Given the description of an element on the screen output the (x, y) to click on. 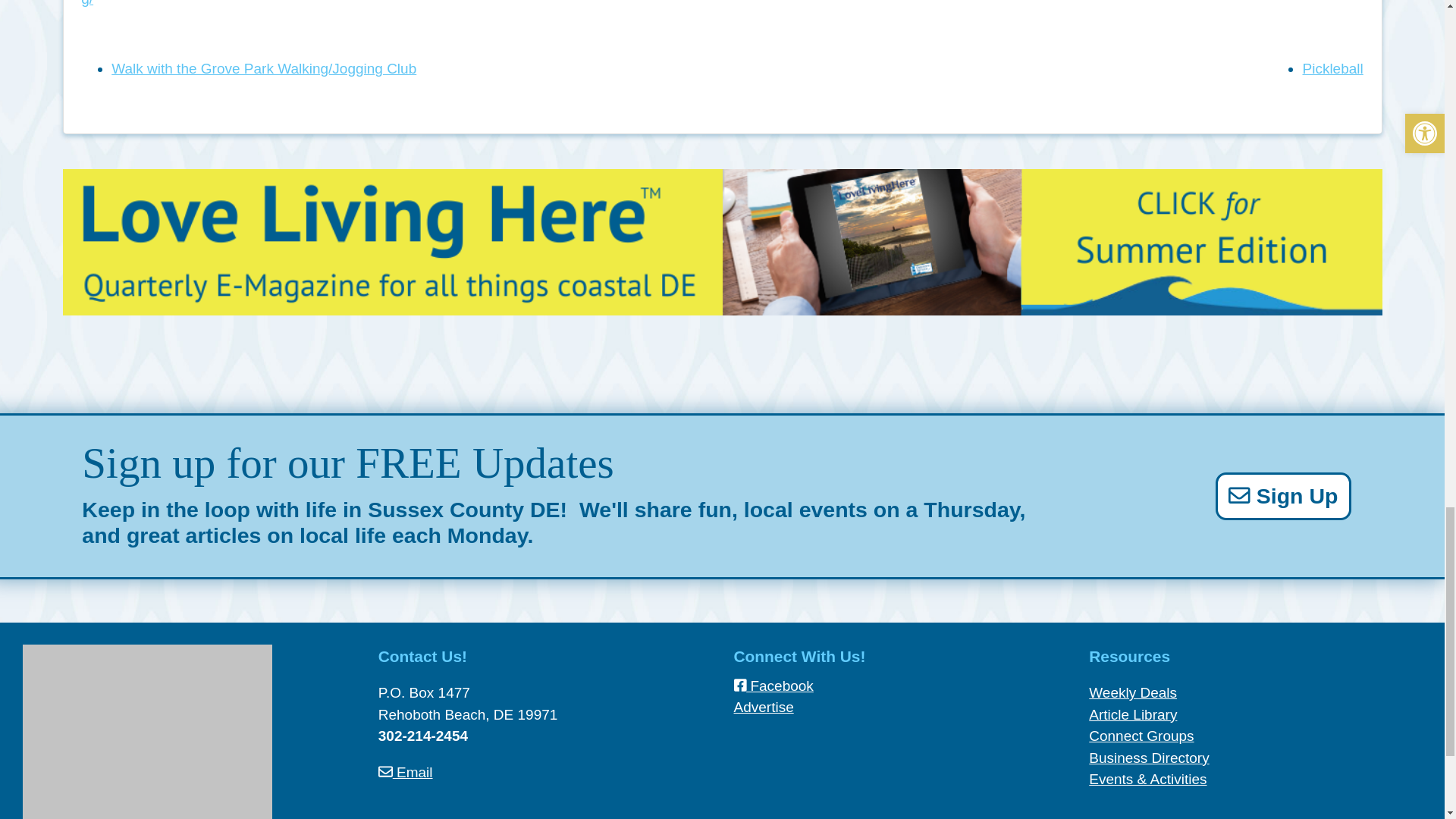
Sign Up (1283, 496)
Pickleball (1331, 68)
Email (405, 772)
